Given the description of an element on the screen output the (x, y) to click on. 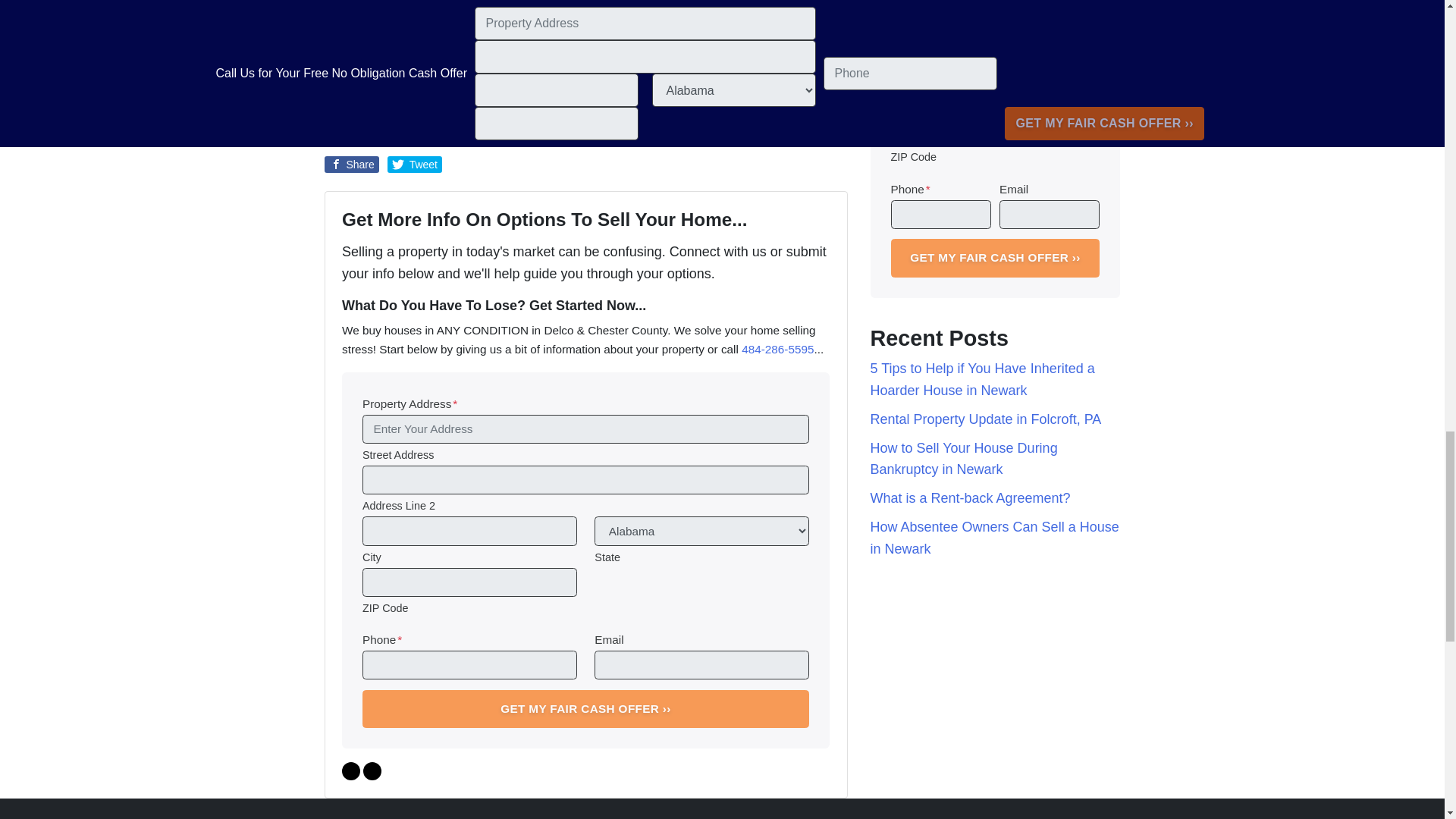
Call Unlimited Real Estate Solutions (596, 100)
Share (351, 164)
Rental Property Update in Folcroft, PA (986, 418)
YouTube (371, 771)
How to Sell Your House During Bankruptcy in Newark (964, 457)
How Absentee Owners Can Sell a House in Newark (994, 537)
Facebook (350, 771)
484-286-5595 (777, 349)
Tweet (414, 164)
